Given the description of an element on the screen output the (x, y) to click on. 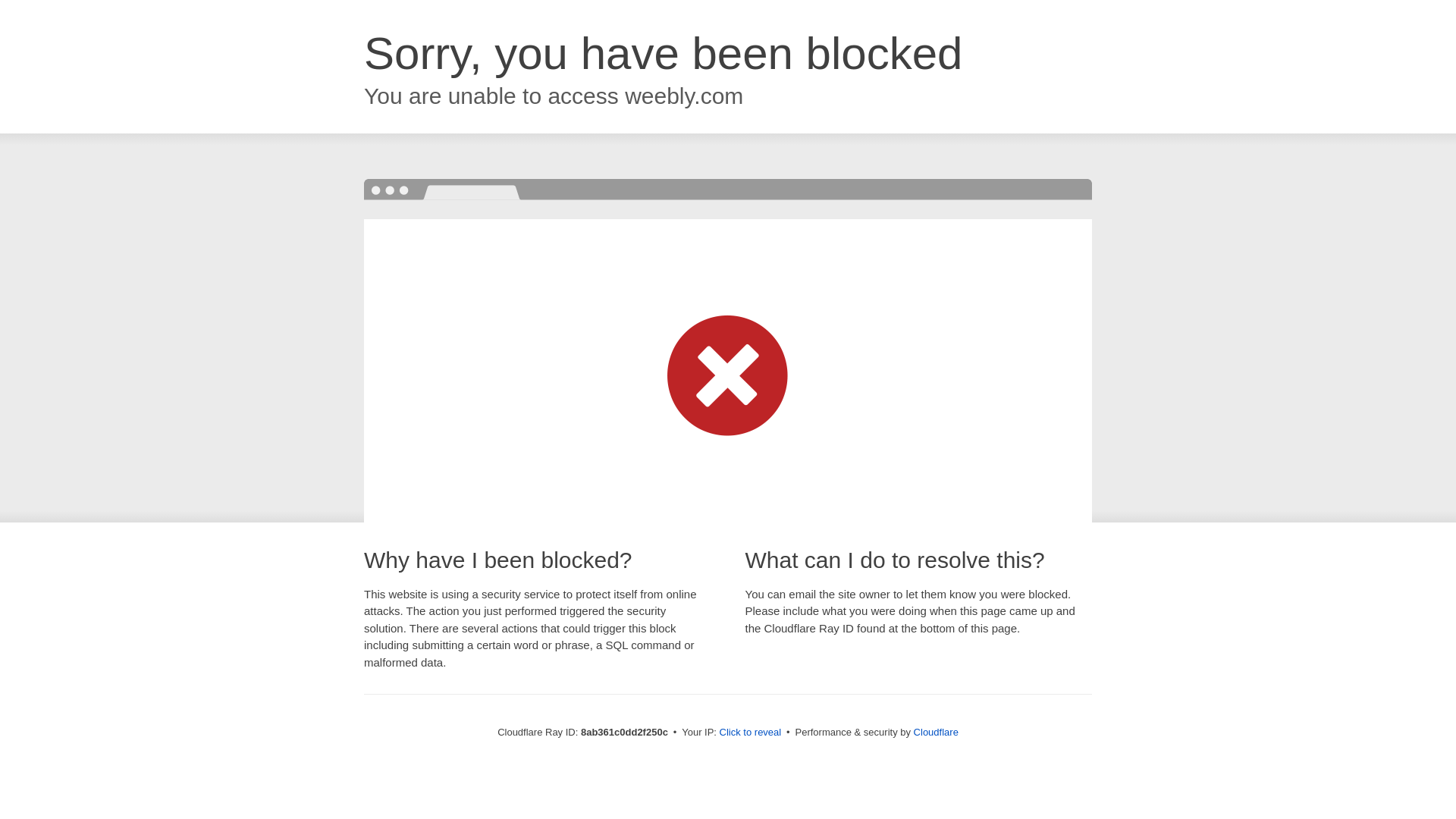
Click to reveal (750, 732)
Cloudflare (936, 731)
